Given the description of an element on the screen output the (x, y) to click on. 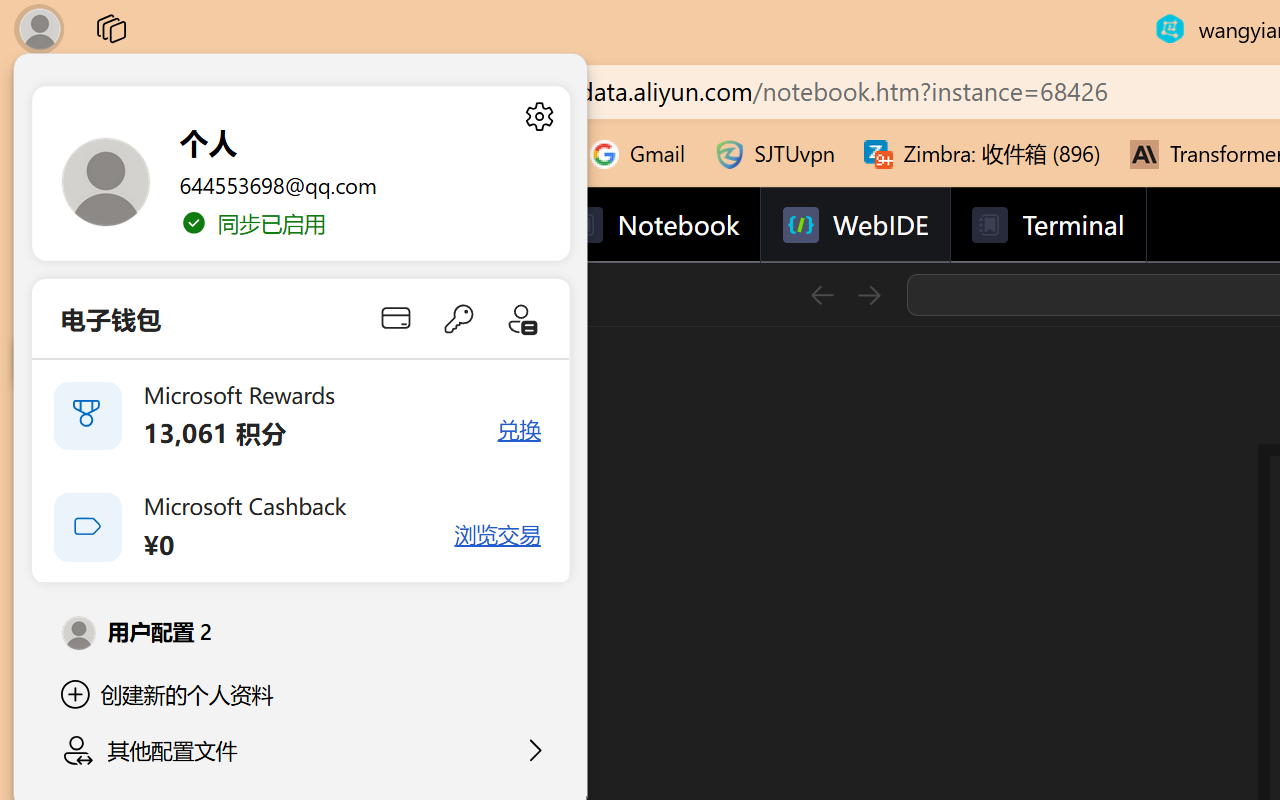
Go Forward (Alt+RightArrow) (867, 294)
